Given the description of an element on the screen output the (x, y) to click on. 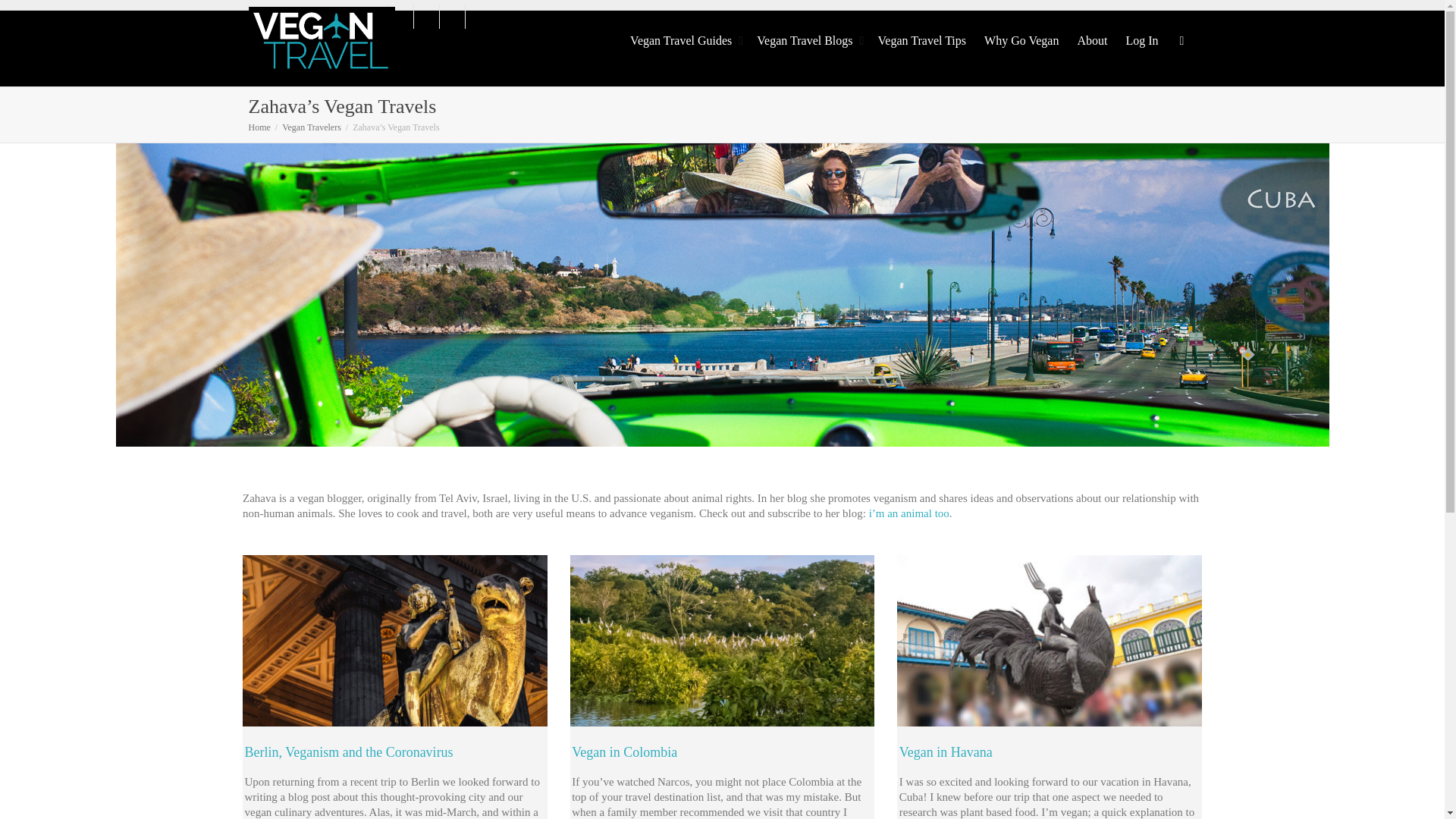
About (1091, 40)
Vegan Travel Guides (684, 40)
Log In (1141, 40)
Home (259, 127)
Vegan Travel Blogs (808, 40)
Vegan in Colombia (624, 752)
Vegan Travel Blogs (808, 40)
Vegan Travel (321, 40)
Why Go Vegan (1021, 40)
Vegan Travel Tips (921, 40)
Vegan Travel Guides (684, 40)
Vegan Travelers (311, 127)
Berlin, Veganism and the Coronavirus (348, 752)
